Given the description of an element on the screen output the (x, y) to click on. 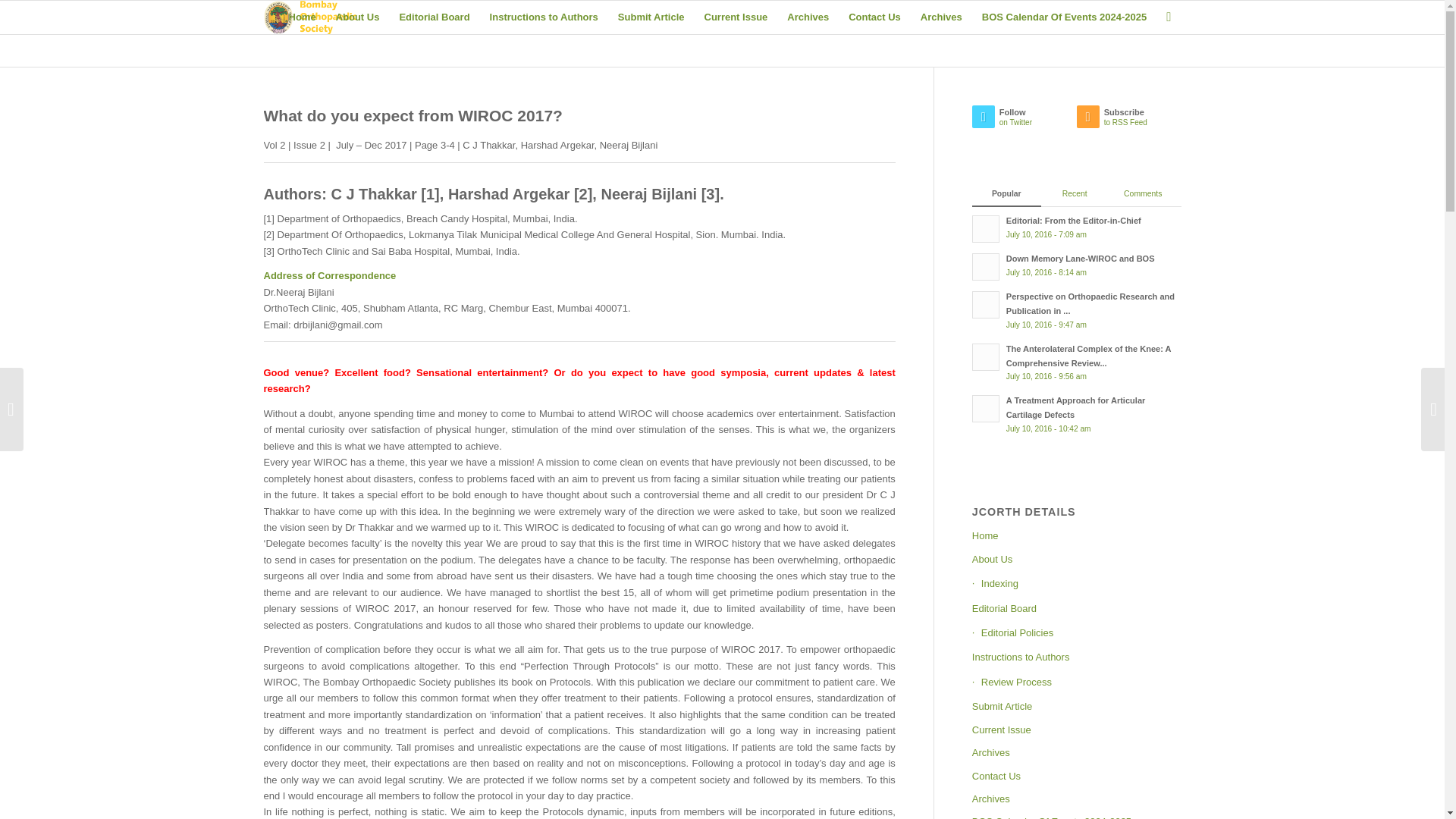
About Us (358, 17)
Home (302, 17)
BOS Calendar Of Events 2024-2025 (1128, 120)
Down Memory Lane-WIROC and BOS (1064, 17)
Archives (1076, 265)
Archives (1076, 265)
Submit Article (807, 17)
Permanent Link: What do you expect from WIROC 2017? (941, 17)
Perspective on Orthopaedic Research and Publication in India (651, 17)
Instructions to Authors (1076, 227)
Editorial: From the Editor-in-Chief (412, 115)
